Given the description of an element on the screen output the (x, y) to click on. 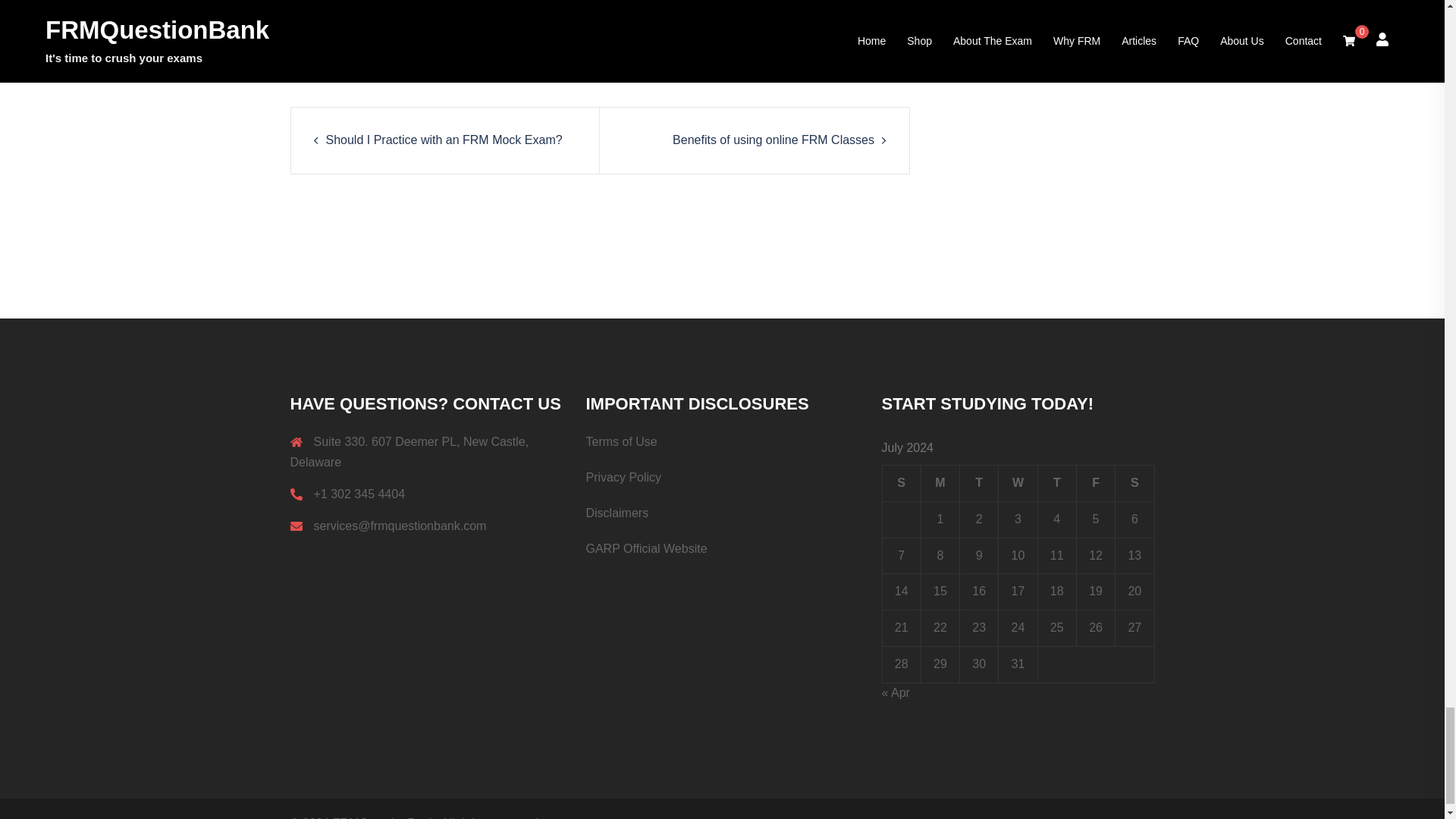
Thursday (1055, 483)
Saturday (1134, 483)
Friday (1095, 483)
Should I Practice with an FRM Mock Exam? (444, 139)
Tuesday (978, 483)
Benefits of using online FRM Classes (773, 139)
Monday (939, 483)
Wednesday (1017, 483)
Sunday (901, 483)
